Given the description of an element on the screen output the (x, y) to click on. 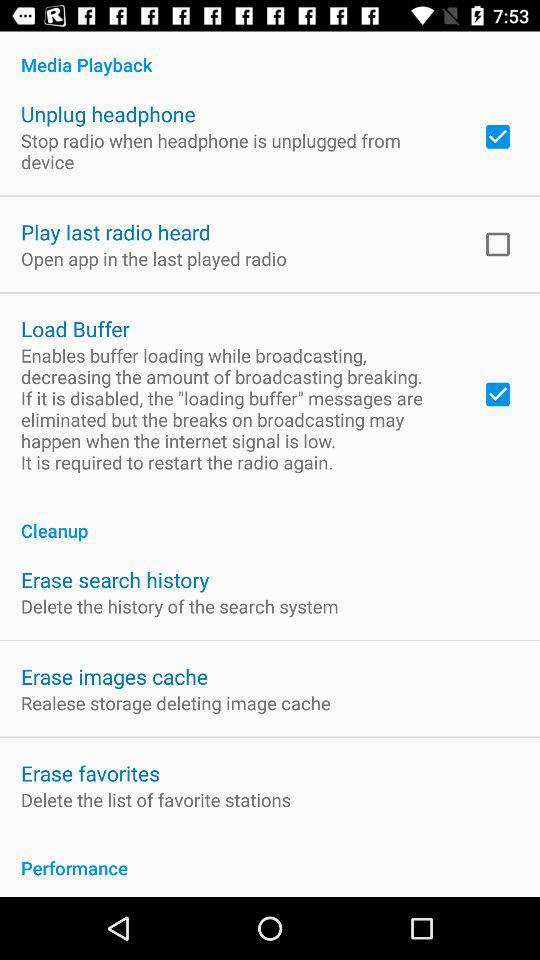
choose the performance (270, 857)
